Given the description of an element on the screen output the (x, y) to click on. 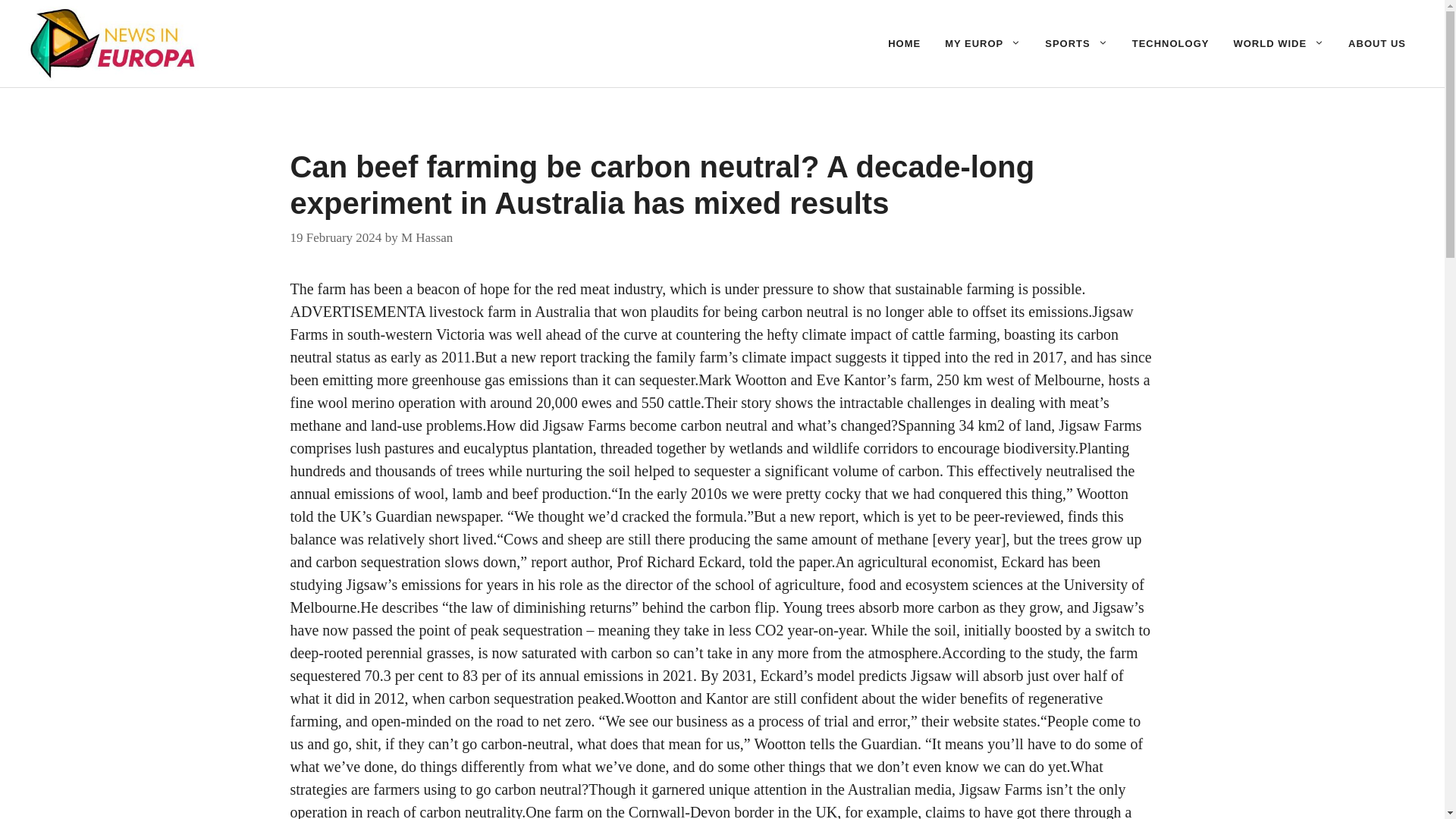
WORLD WIDE (1278, 43)
ABOUT US (1377, 43)
TECHNOLOGY (1170, 43)
SPORTS (1075, 43)
View all posts by M Hassan (426, 237)
MY EUROP (982, 43)
M Hassan (426, 237)
HOME (904, 43)
